Given the description of an element on the screen output the (x, y) to click on. 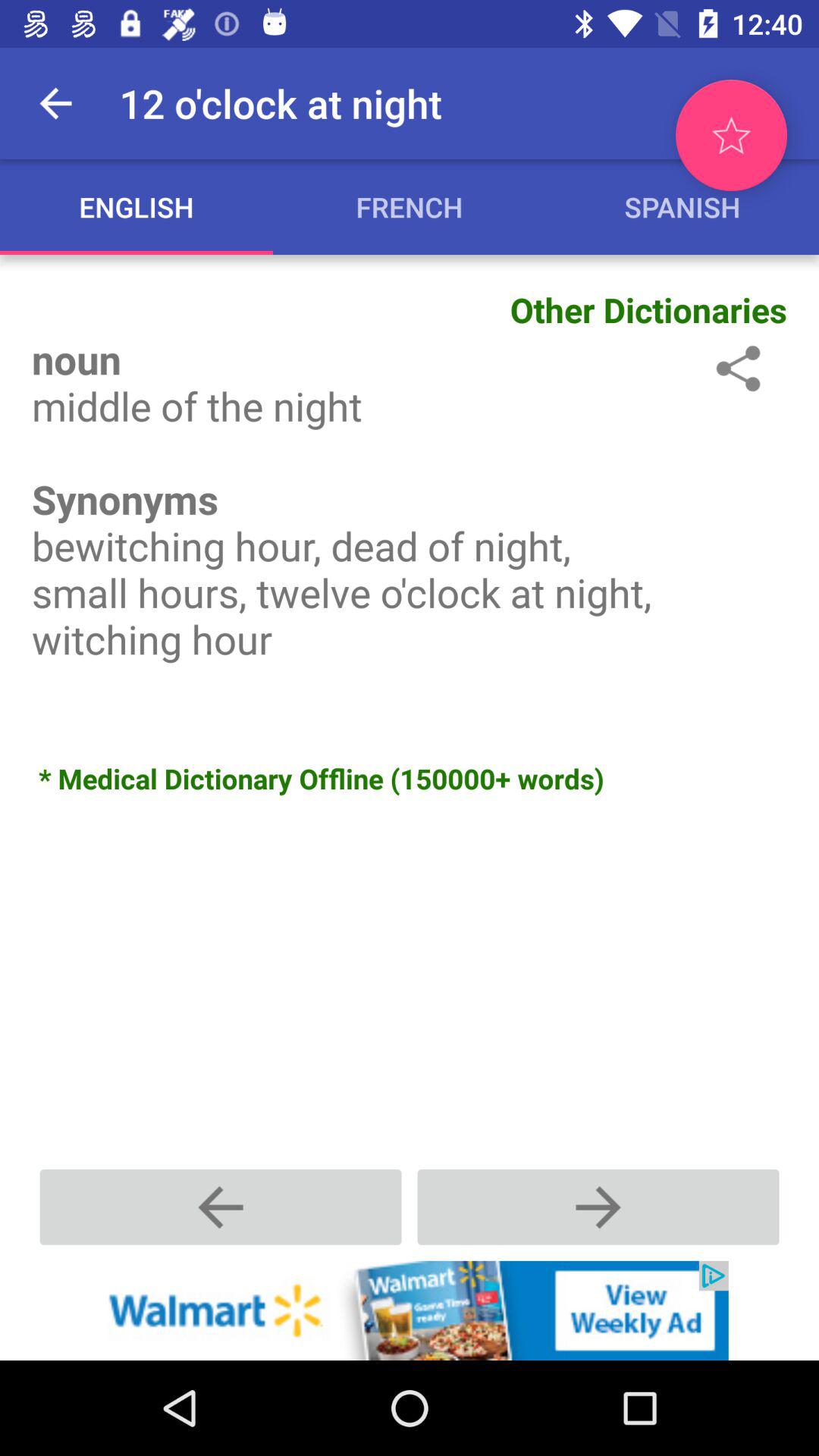
go back to previous page (220, 1206)
